Given the description of an element on the screen output the (x, y) to click on. 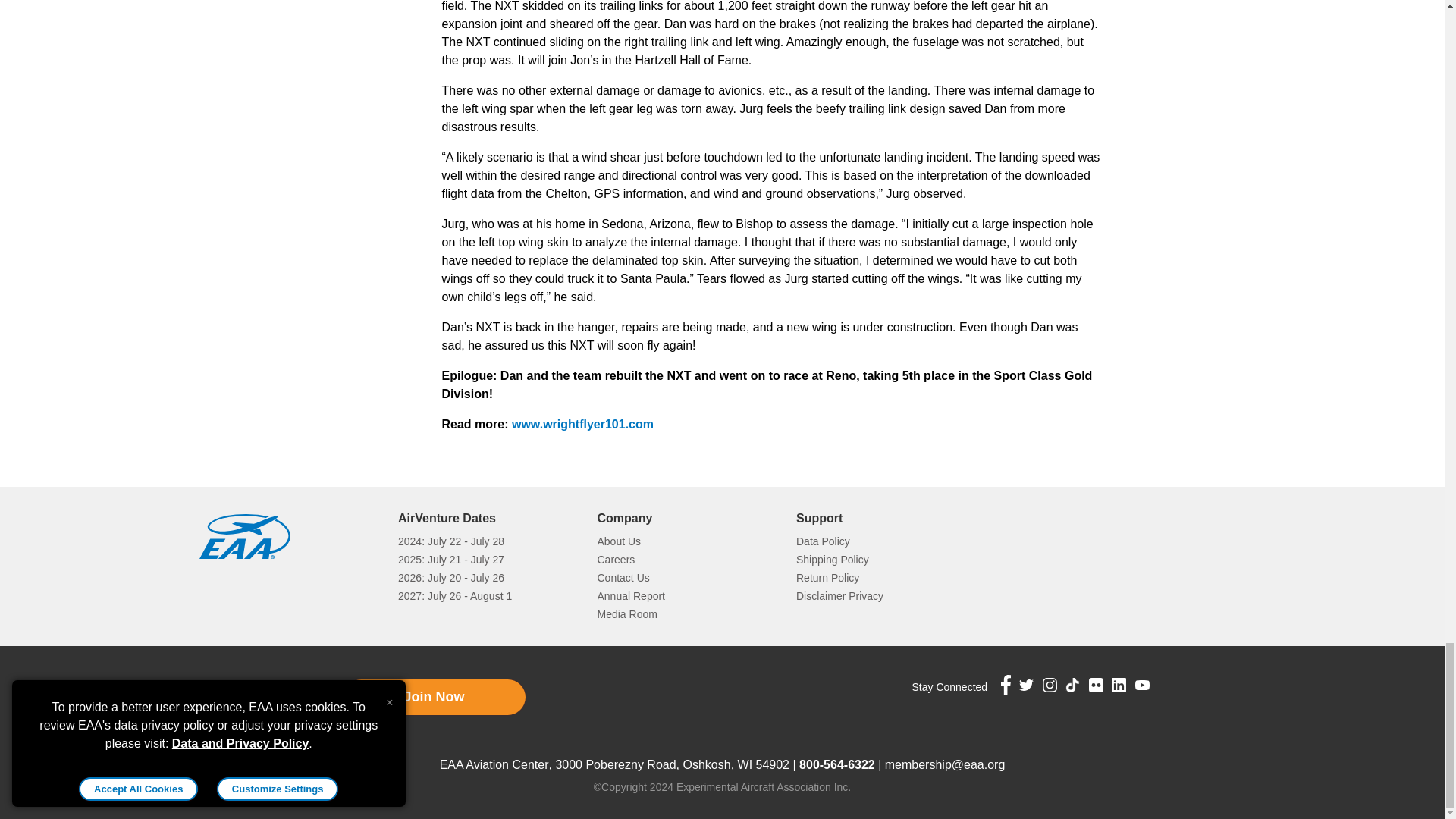
Join Now (433, 696)
